Given the description of an element on the screen output the (x, y) to click on. 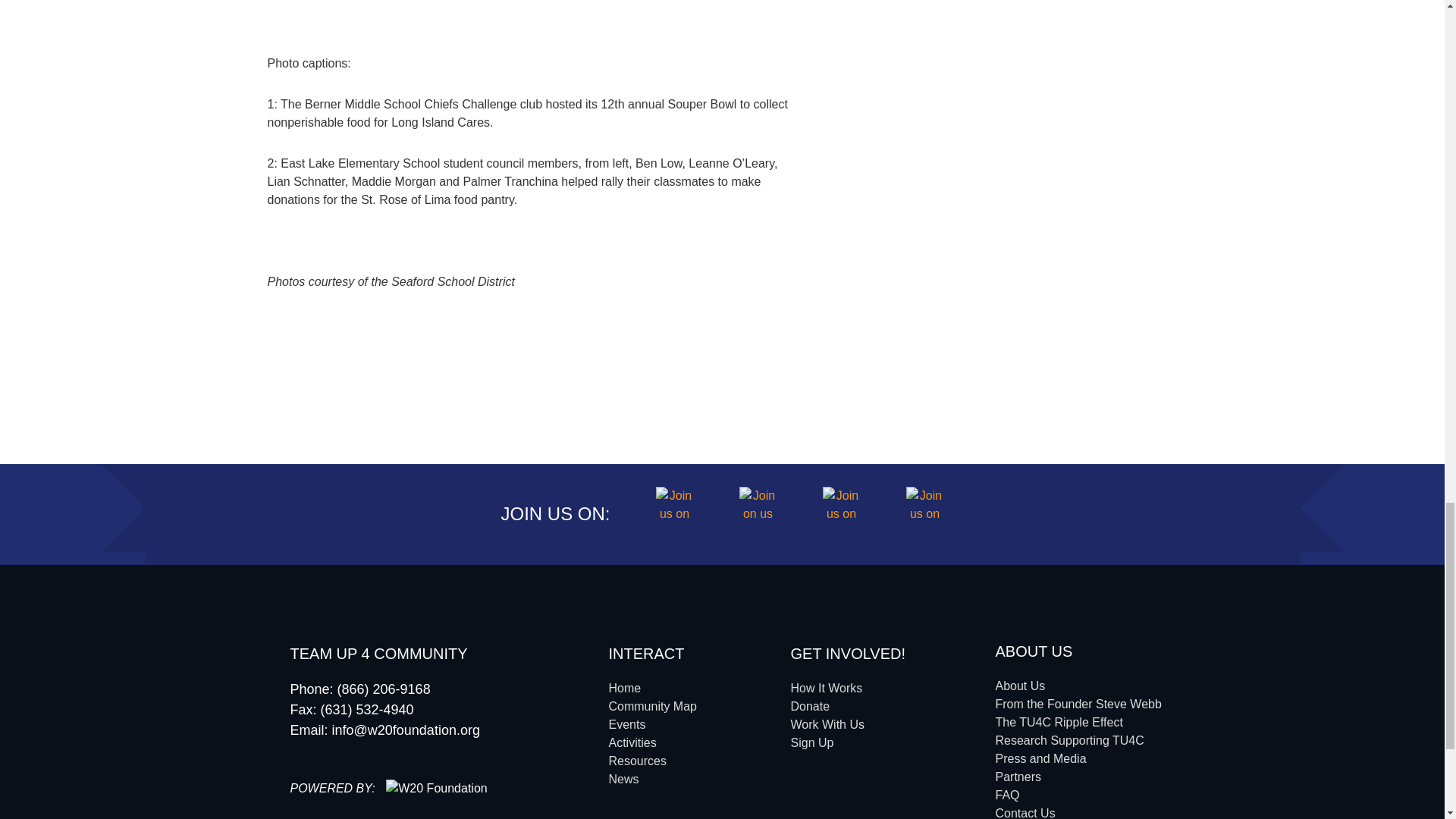
Events (626, 724)
Activities (632, 742)
Home (624, 687)
Community Map (651, 706)
